Given the description of an element on the screen output the (x, y) to click on. 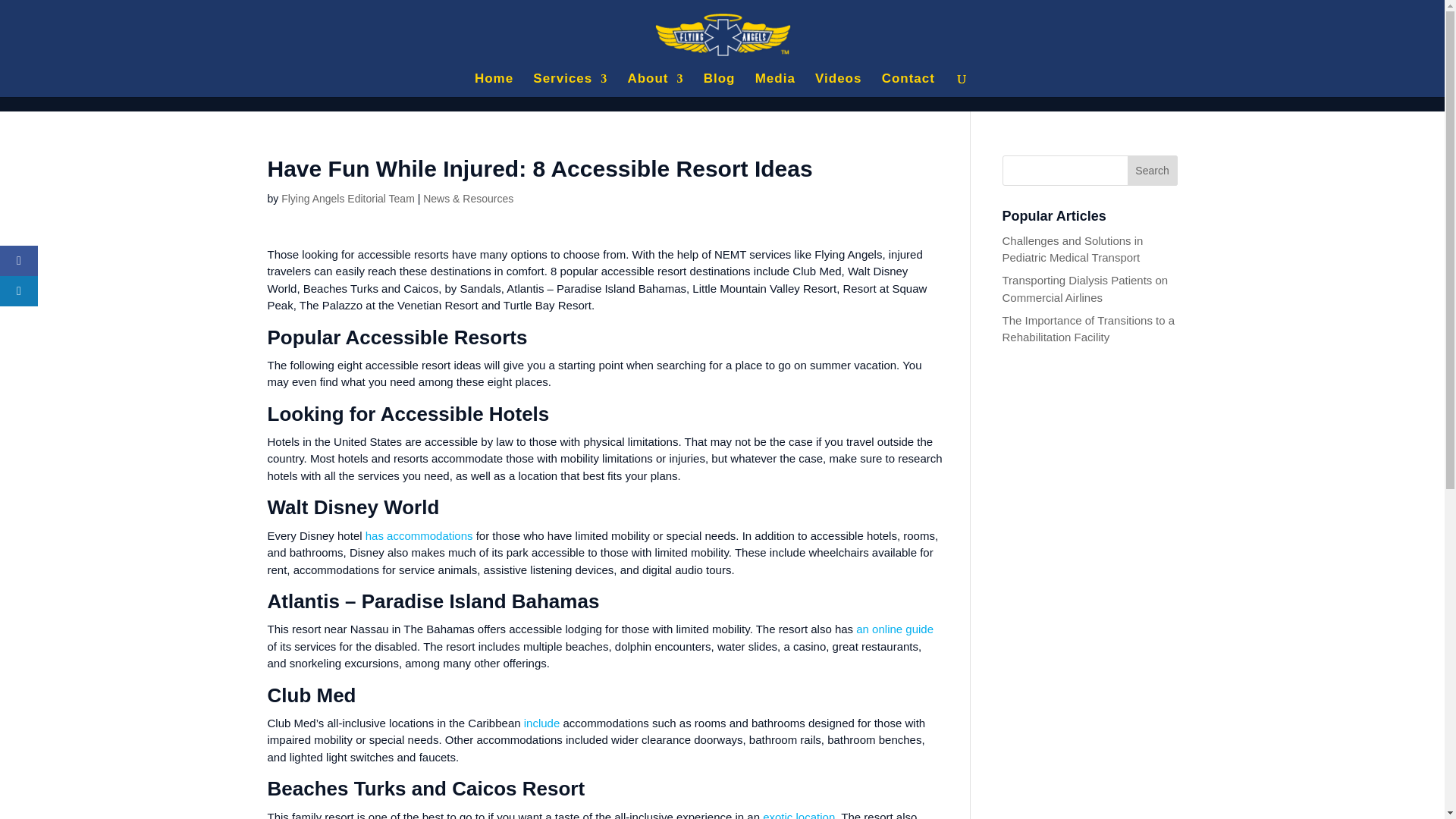
Flying Angels Editorial Team (347, 198)
Home (493, 85)
has accommodations (419, 535)
Videos (838, 85)
an online guide (894, 628)
Contact (908, 85)
Posts by Flying Angels Editorial Team (347, 198)
About (654, 85)
exotic location (798, 814)
Search (1151, 170)
Search (1151, 170)
Media (774, 85)
Transporting Dialysis Patients on Commercial Airlines (1086, 288)
include (542, 722)
Services (569, 85)
